Given the description of an element on the screen output the (x, y) to click on. 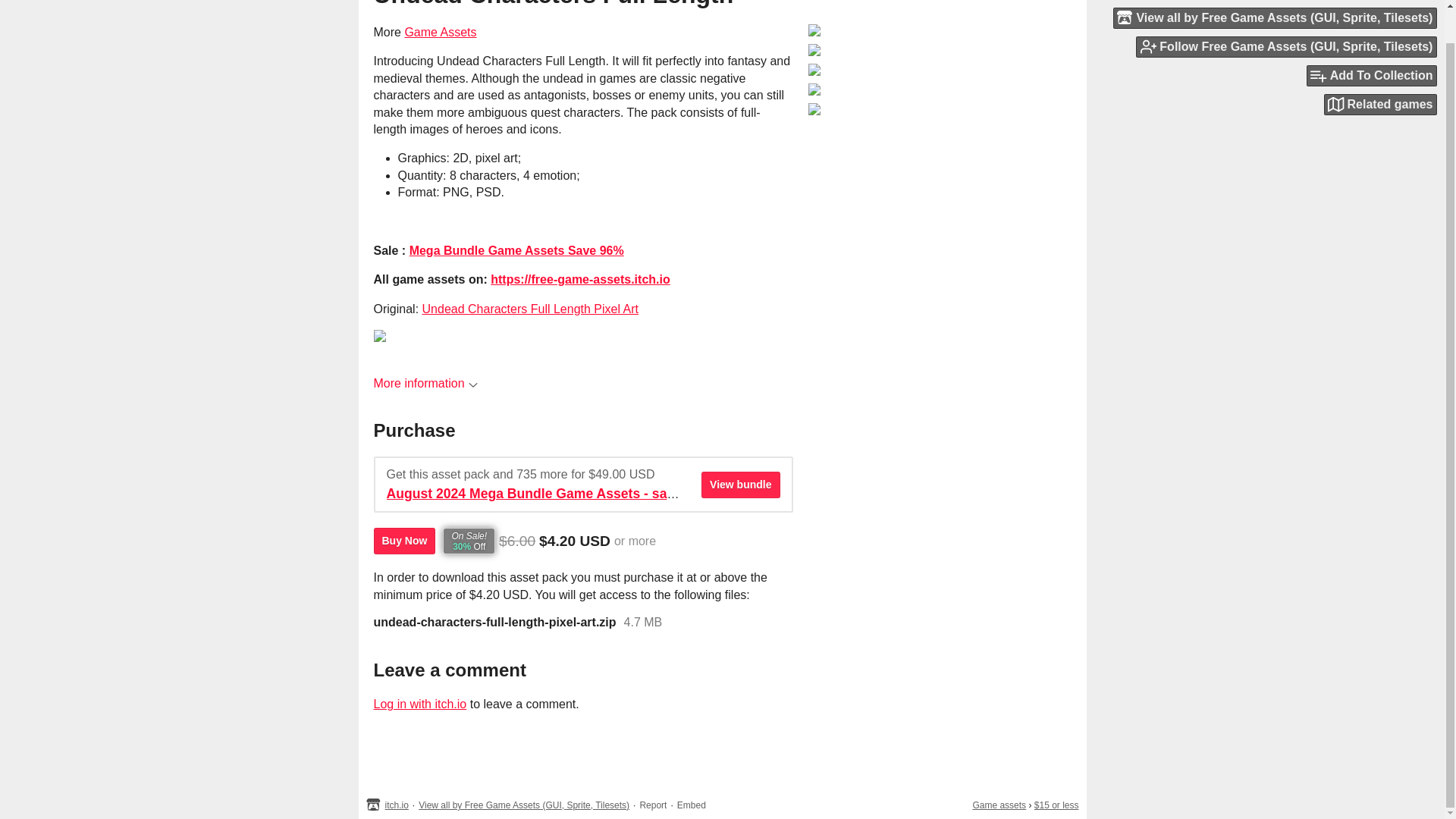
Game Assets (440, 31)
View bundle (739, 484)
Buy Now (403, 540)
undead-characters-full-length-pixel-art.zip (493, 622)
Related games (1380, 70)
Add To Collection (1371, 41)
itch.io (397, 805)
Log in with itch.io (418, 703)
More information (424, 382)
Undead Characters Full Length Pixel Art (530, 308)
